Given the description of an element on the screen output the (x, y) to click on. 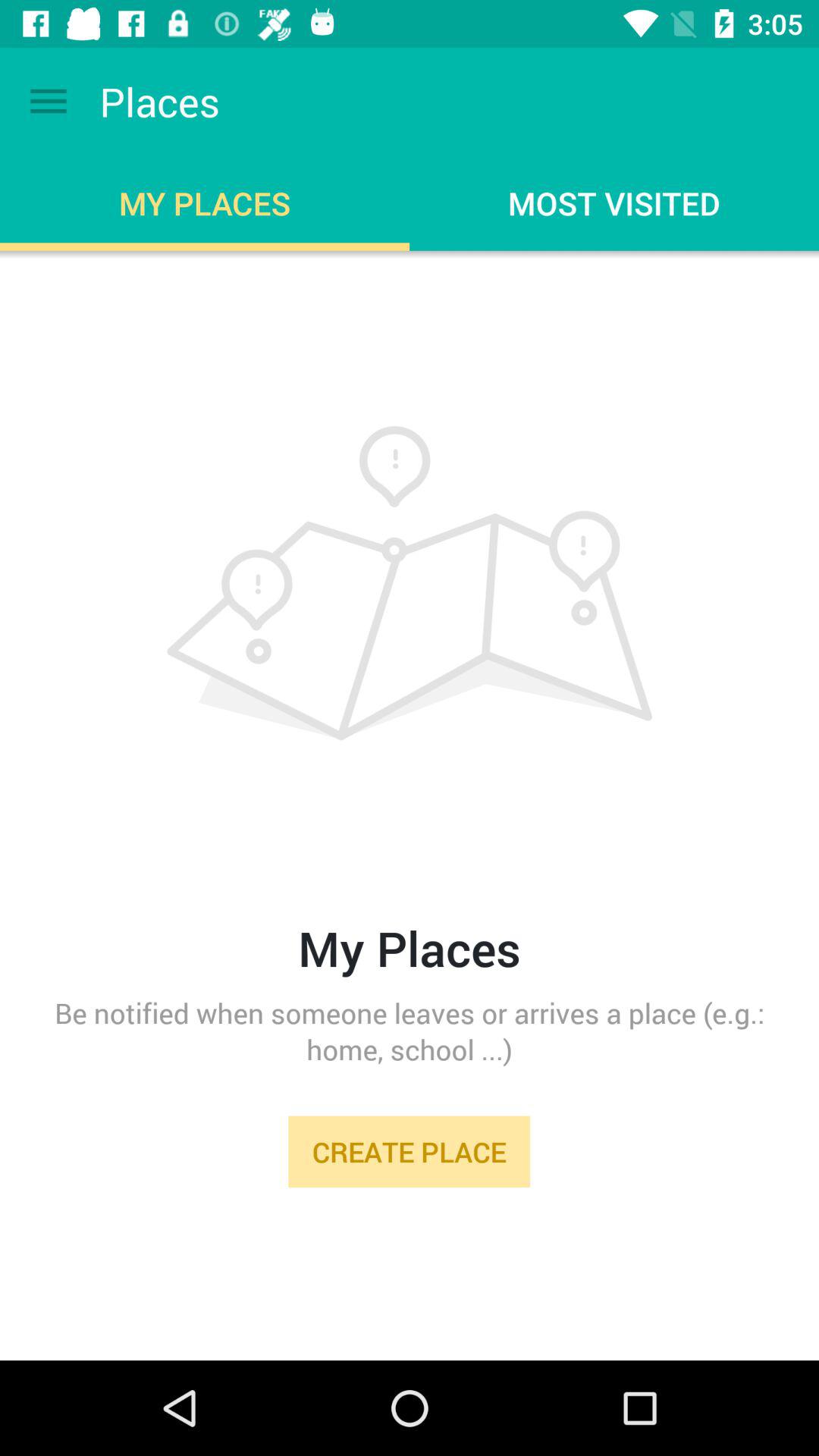
turn on create place icon (409, 1151)
